Given the description of an element on the screen output the (x, y) to click on. 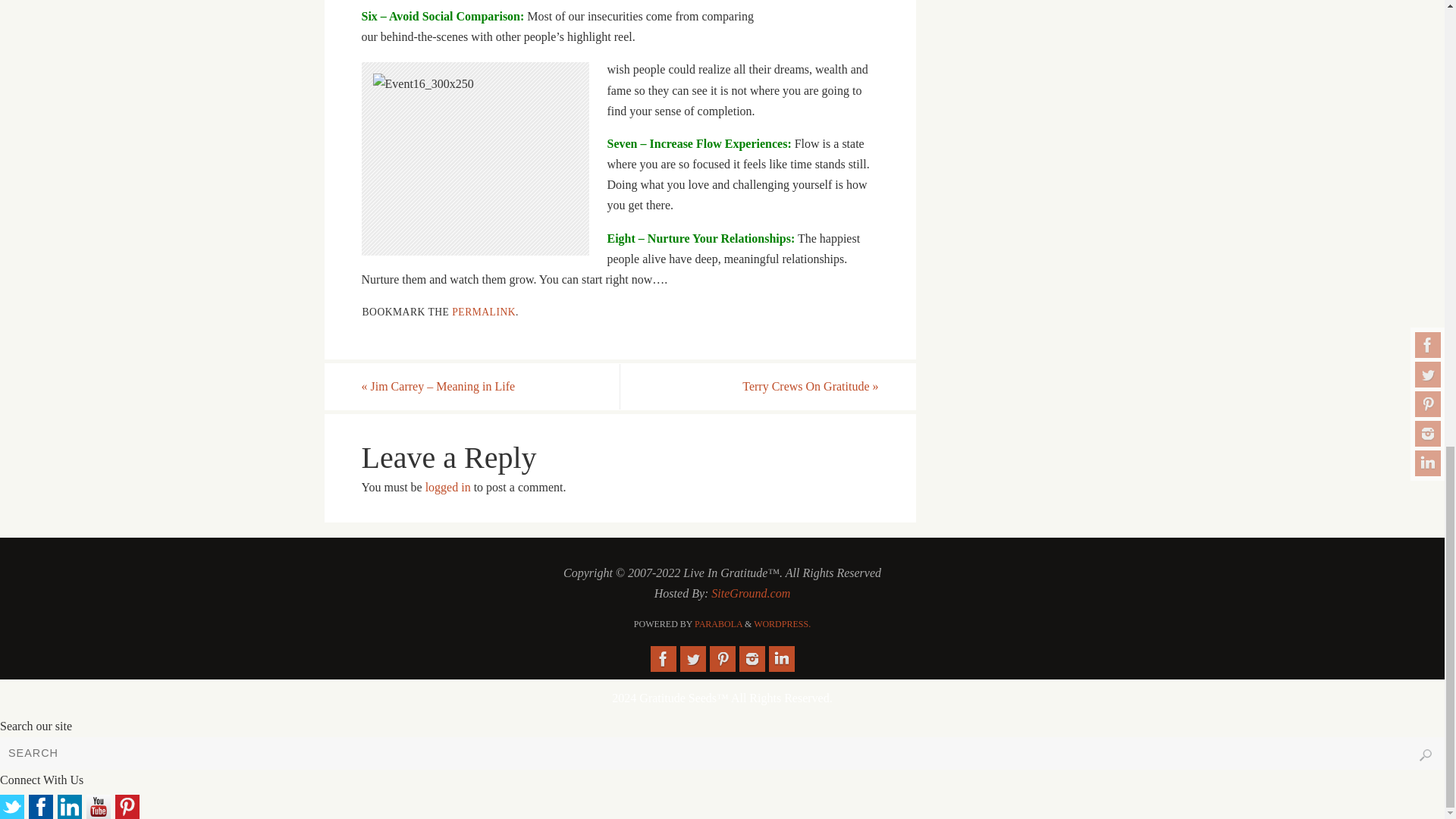
Pinterest (722, 658)
Parabola Theme by Cryout Creations (718, 624)
Twitter (691, 658)
Facebook (663, 658)
Permalink to Eight Things Happy People Do Differently (483, 311)
Semantic Personal Publishing Platform (782, 624)
